Given the description of an element on the screen output the (x, y) to click on. 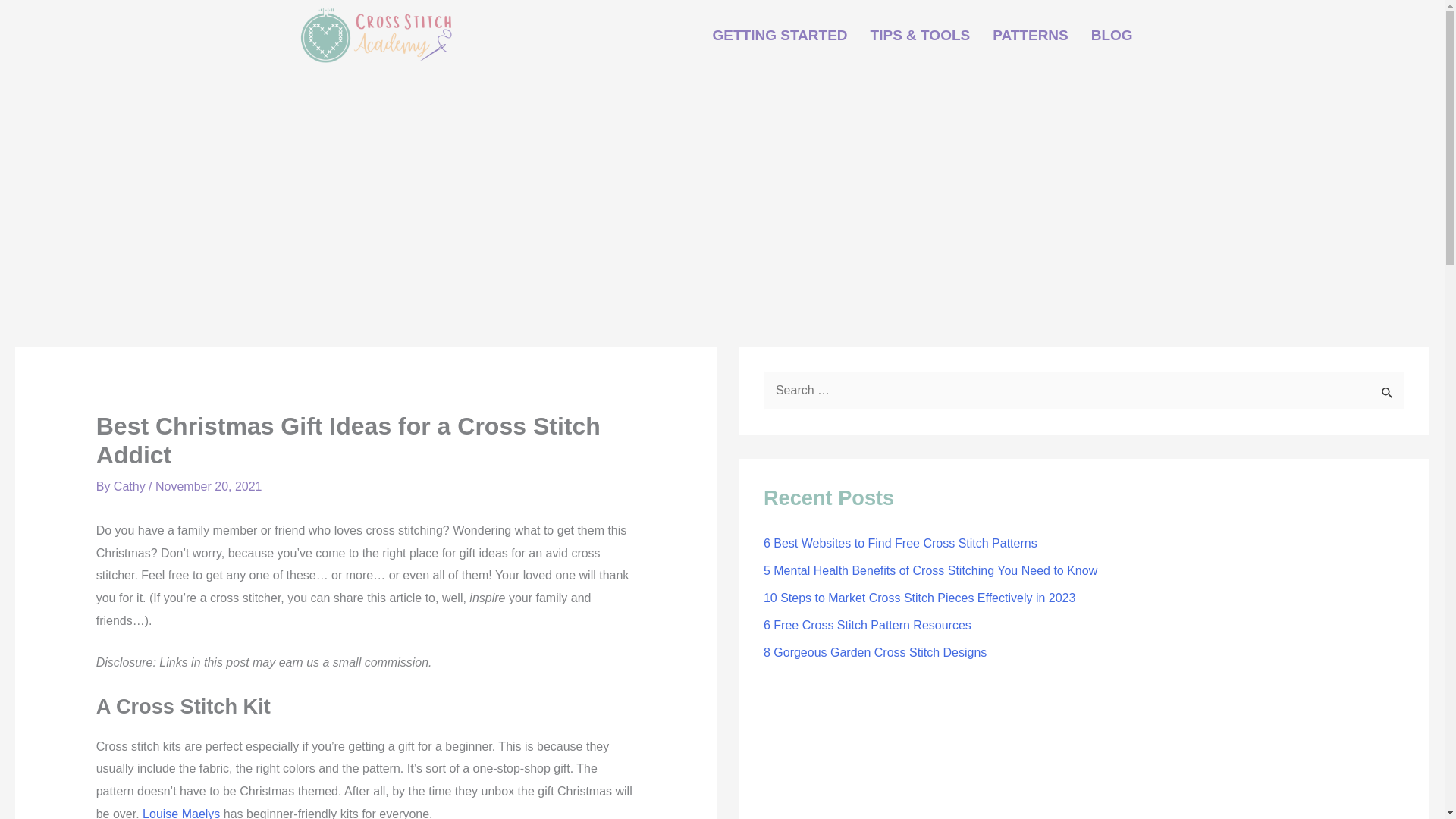
Louise Maelys (180, 813)
10 Steps to Market Cross Stitch Pieces Effectively in 2023 (918, 597)
Cathy (130, 486)
6 Free Cross Stitch Pattern Resources (866, 625)
PATTERNS (1030, 35)
Louise Maelys (180, 813)
GETTING STARTED (780, 35)
View all posts by Cathy (130, 486)
BLOG (1112, 35)
5 Mental Health Benefits of Cross Stitching You Need to Know (929, 570)
8 Gorgeous Garden Cross Stitch Designs (874, 652)
6 Best Websites to Find Free Cross Stitch Patterns (899, 543)
